Given the description of an element on the screen output the (x, y) to click on. 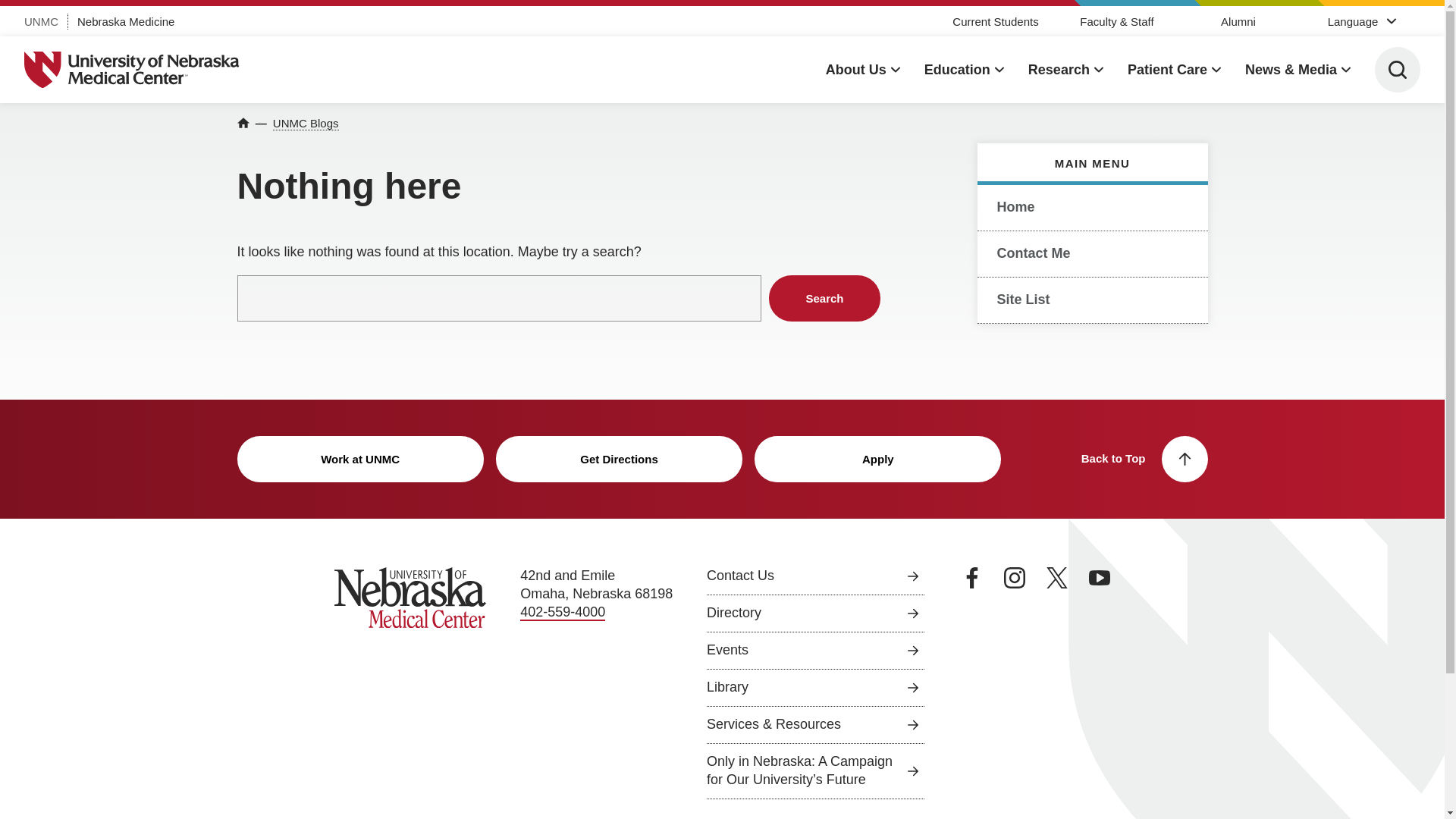
Back to Top (1144, 458)
Nebraska Medicine (125, 21)
Alumni (1238, 21)
UNMC (41, 21)
Current Students (995, 21)
Language (1359, 20)
University of Nebraska Medical Center (132, 69)
About Us (862, 69)
